Given the description of an element on the screen output the (x, y) to click on. 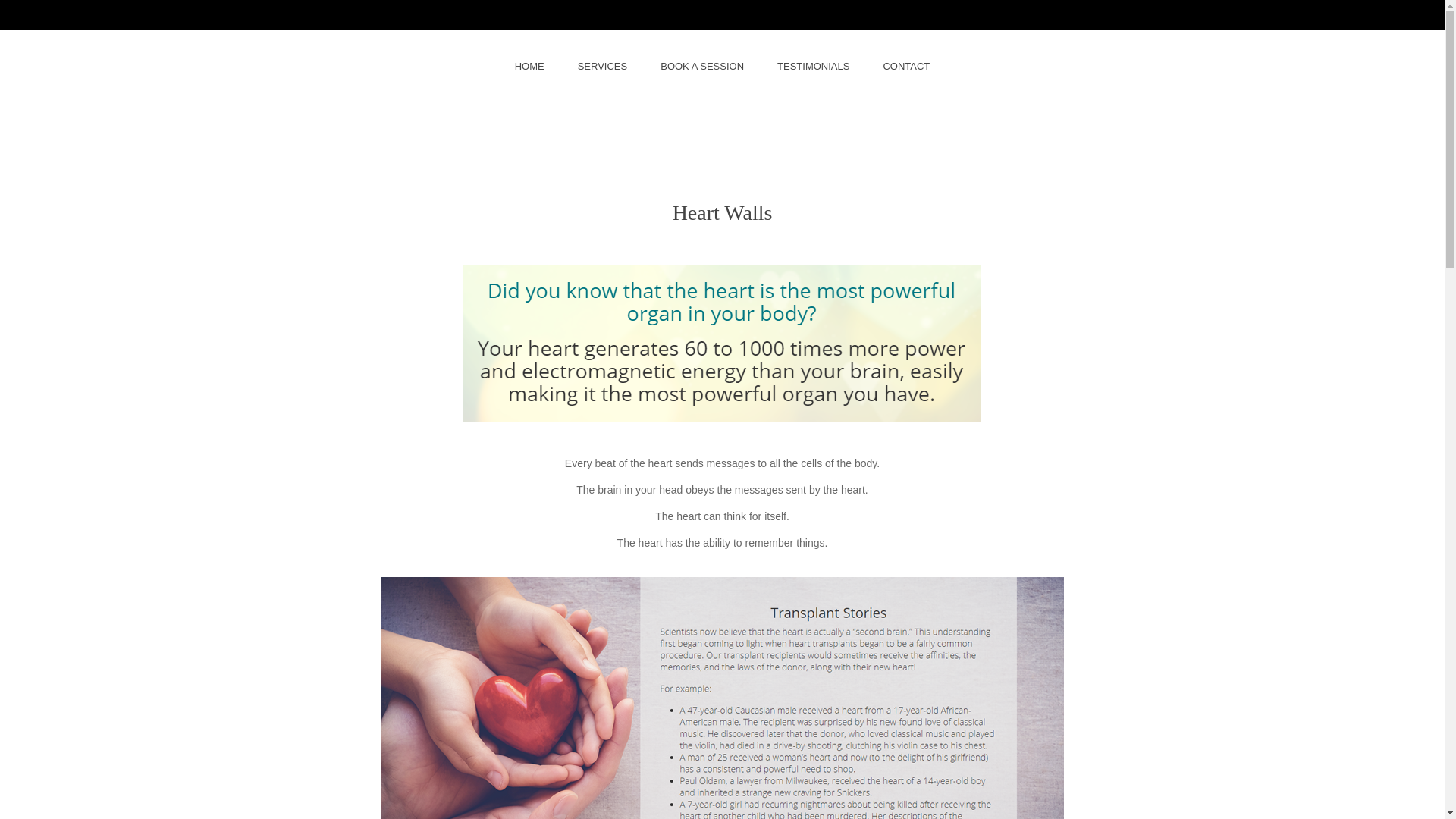
SERVICES (602, 66)
heart walls (722, 343)
CONTACT (906, 66)
TESTIMONIALS (813, 66)
BOOK A SESSION (701, 66)
